Given the description of an element on the screen output the (x, y) to click on. 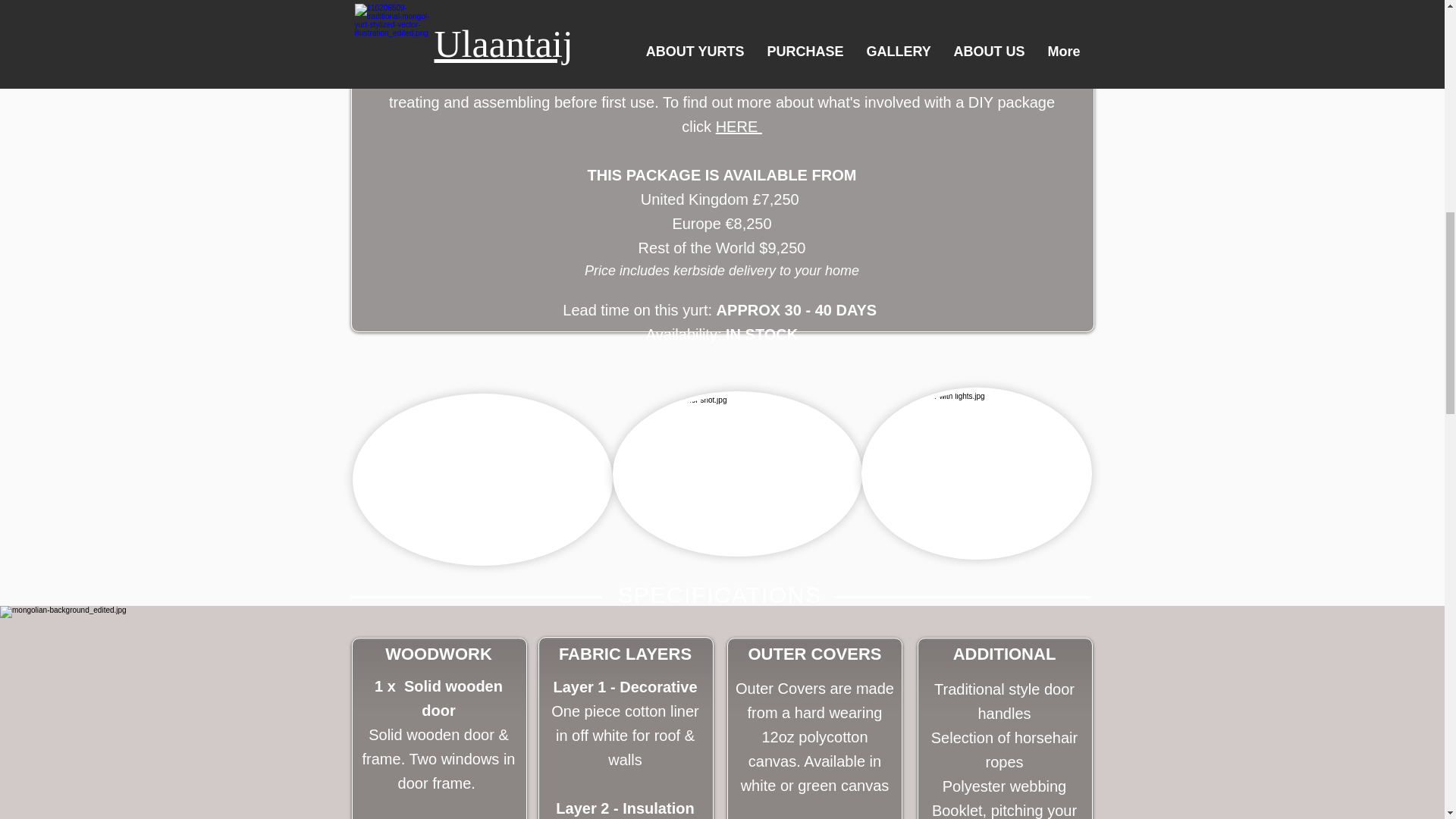
HERE  (738, 126)
